Given the description of an element on the screen output the (x, y) to click on. 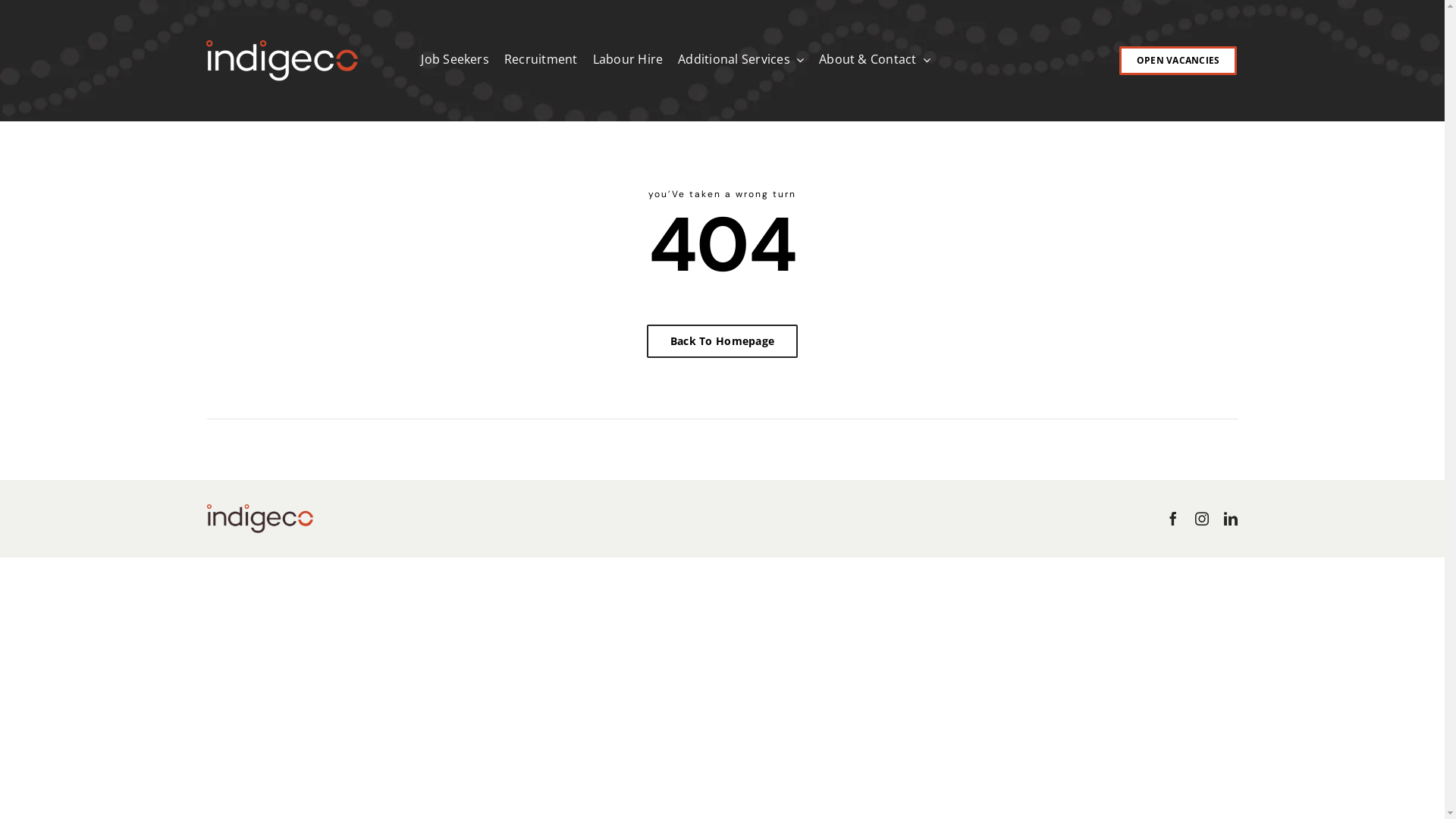
Labour Hire Element type: text (628, 60)
Recruitment Element type: text (540, 60)
0241 04 Indigeco COLOUR 512px Element type: hover (259, 518)
About & Contact Element type: text (874, 60)
LinkedIn Element type: hover (1230, 518)
Instagram Element type: hover (1201, 518)
Facebook Element type: hover (1172, 518)
Job Seekers Element type: text (454, 60)
Back To Homepage Element type: text (721, 340)
OPEN VACANCIES Element type: text (1178, 60)
Additional Services Element type: text (740, 60)
